Given the description of an element on the screen output the (x, y) to click on. 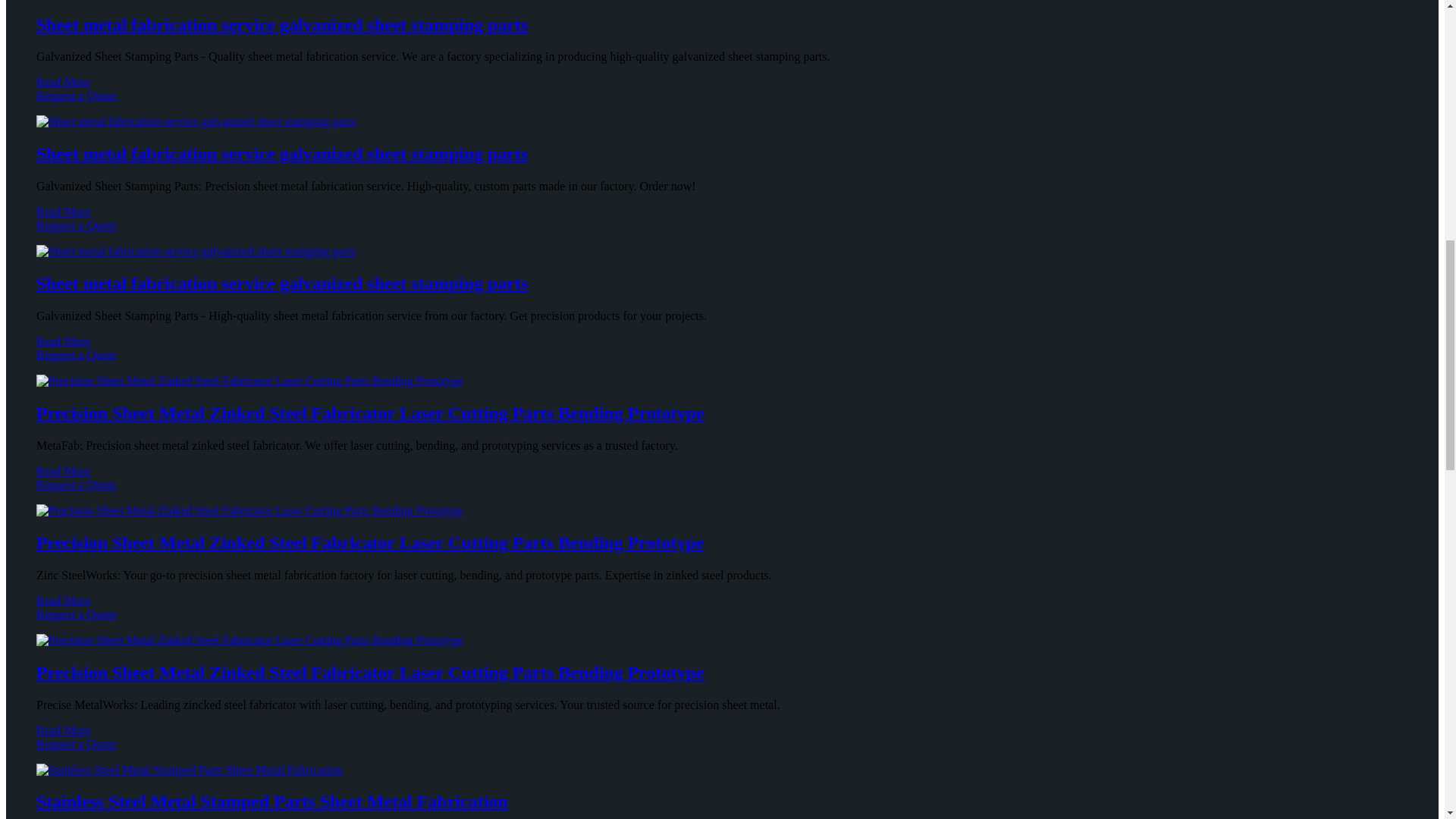
Request a Quote (721, 232)
Request a Quote (721, 361)
Read More (63, 82)
Request a Quote (721, 103)
Read More (63, 341)
Read More (63, 211)
